Given the description of an element on the screen output the (x, y) to click on. 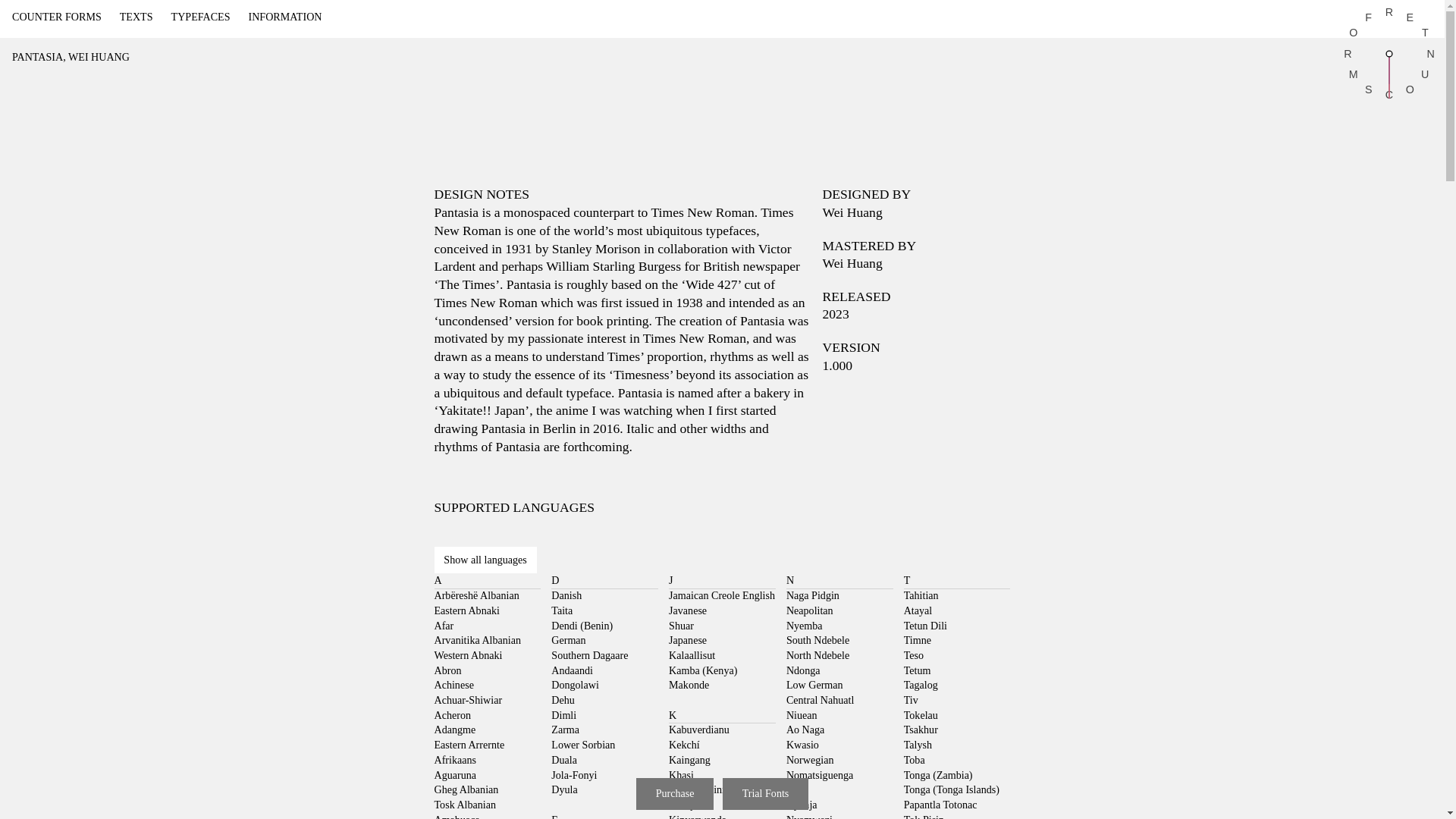
Purchase (1388, 53)
COUNTER FORMS (674, 793)
TYPEFACES (56, 17)
Trial Fonts (200, 17)
Show all languages (765, 793)
Wide 427 (484, 560)
INFORMATION (710, 283)
TEXTS (284, 17)
